Given the description of an element on the screen output the (x, y) to click on. 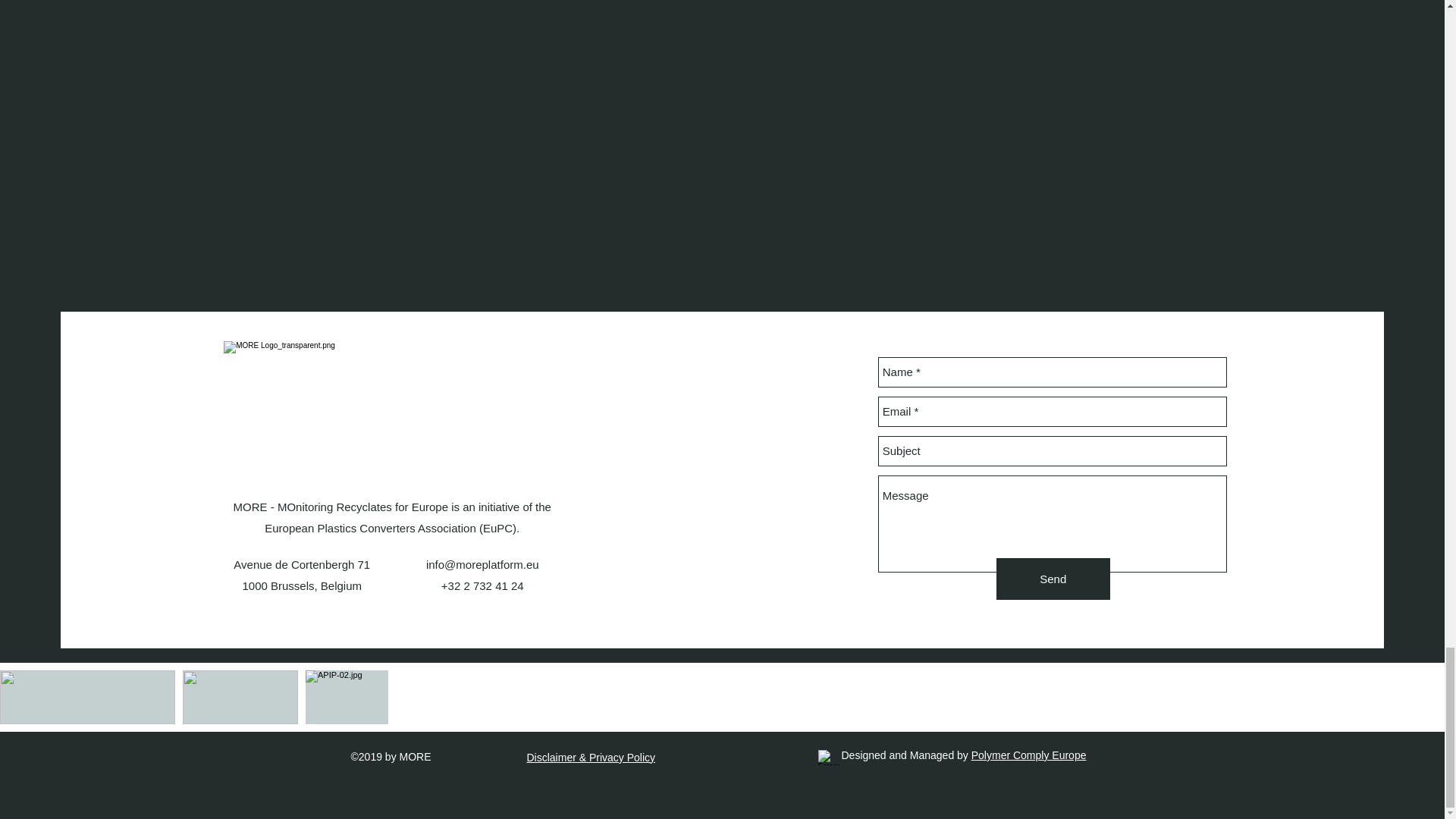
Send (1052, 578)
